Given the description of an element on the screen output the (x, y) to click on. 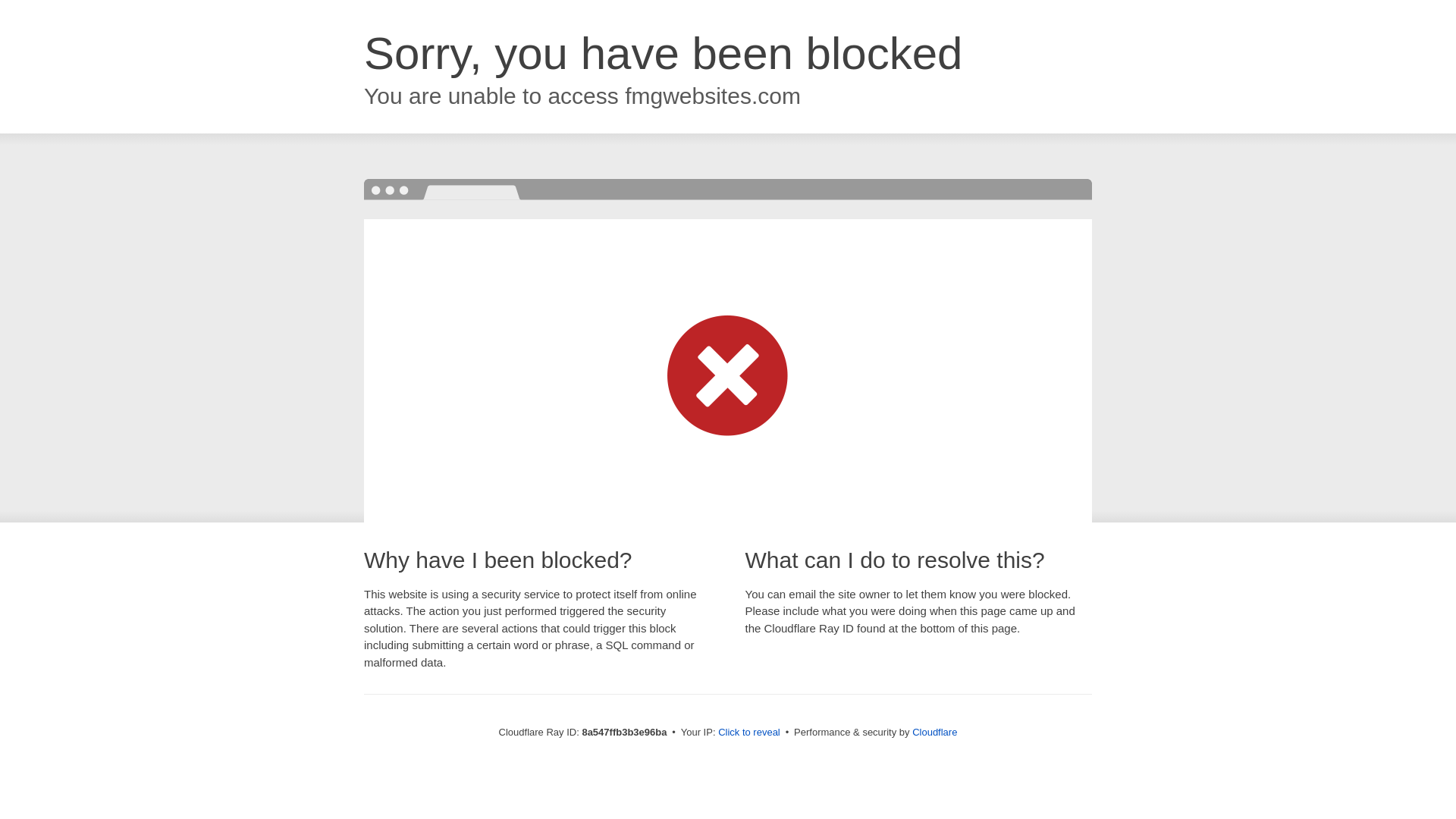
Cloudflare (934, 731)
Click to reveal (748, 732)
